Given the description of an element on the screen output the (x, y) to click on. 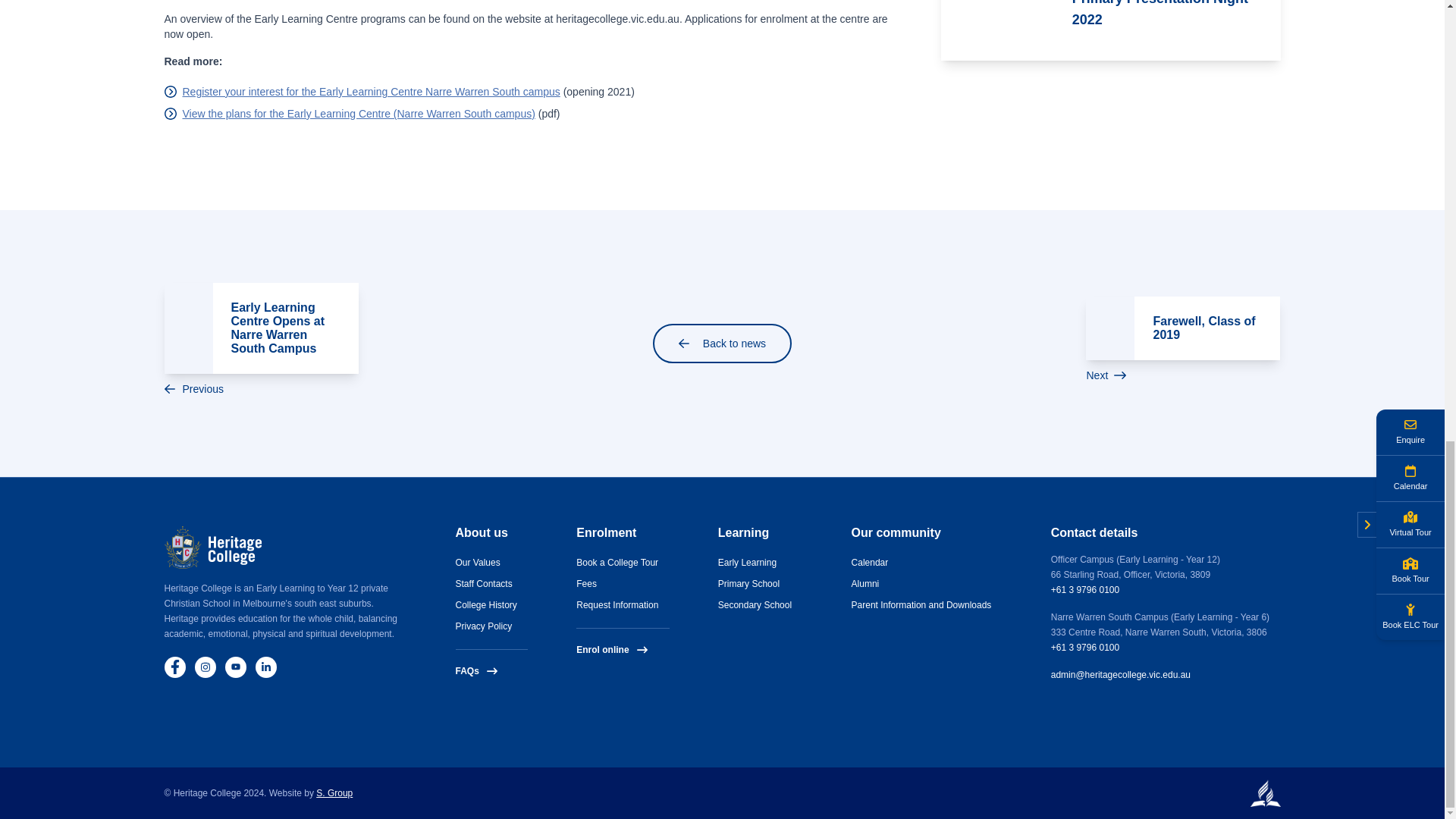
Heritage College (211, 547)
